Given the description of an element on the screen output the (x, y) to click on. 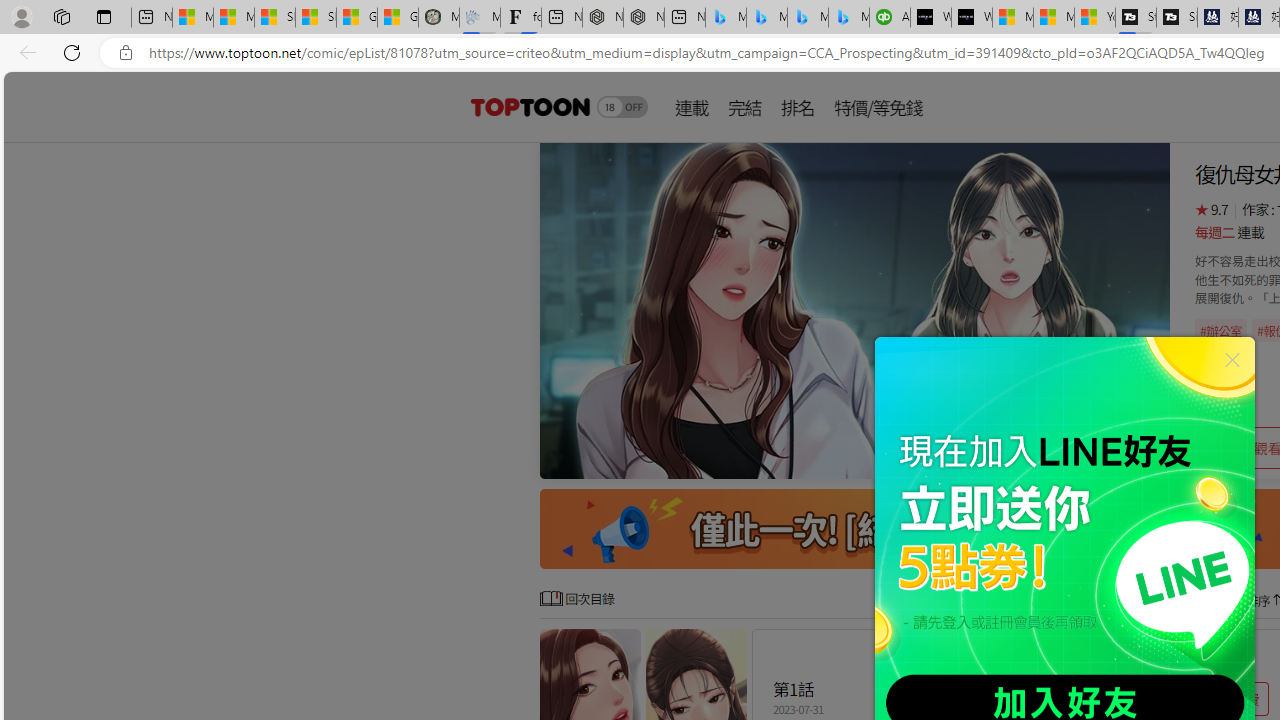
Gilma and Hector both pose tropical trouble for Hawaii (397, 17)
Nordace - #1 Japanese Best-Seller - Siena Smart Backpack (643, 17)
header (527, 106)
Microsoft Bing Travel - Stays in Bangkok, Bangkok, Thailand (767, 17)
To get missing image descriptions, open the context menu. (854, 310)
Manatee Mortality Statistics | FWC (438, 17)
What's the best AI voice generator? - voice.ai (971, 17)
